Given the description of an element on the screen output the (x, y) to click on. 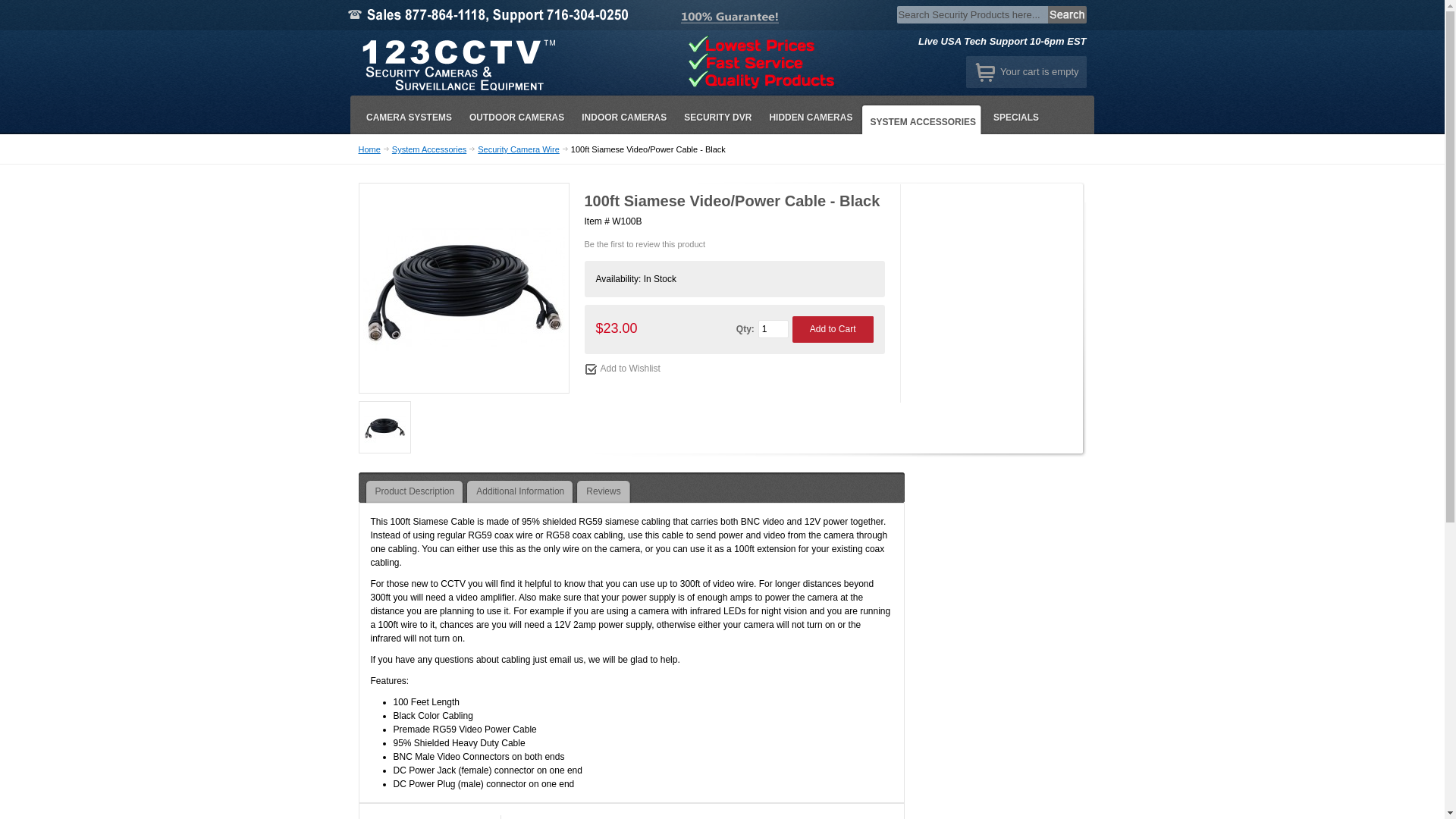
Product Description Element type: text (414, 490)
Siamese CCTV Cable - Video + Power Element type: hover (463, 288)
SECURITY DVR Element type: text (716, 118)
HIDDEN CAMERAS Element type: text (809, 118)
Qty Element type: hover (773, 329)
My Cart Element type: text (985, 71)
123 CCTV Security Cameras & Surveillance Equipment Element type: hover (455, 62)
Add to Cart Element type: text (832, 329)
CAMERA SYSTEMS Element type: text (407, 118)
Add to Wishlist Element type: text (621, 368)
System Accessories Element type: text (429, 149)
Siamese CCTV Cable - Video + Power Element type: hover (383, 427)
SPECIALS Element type: text (1014, 118)
INDOOR CAMERAS Element type: text (622, 118)
Search Element type: hover (1067, 14)
OUTDOOR CAMERAS Element type: text (515, 118)
Security Camera Wire Element type: text (518, 149)
Home Element type: text (368, 149)
Be the first to review this product Element type: text (644, 243)
Sales 877-864-1118, Support 716-304-0250 Element type: hover (496, 15)
Reviews Element type: text (602, 490)
Additional Information Element type: text (519, 490)
SYSTEM ACCESSORIES Element type: text (921, 118)
